Given the description of an element on the screen output the (x, y) to click on. 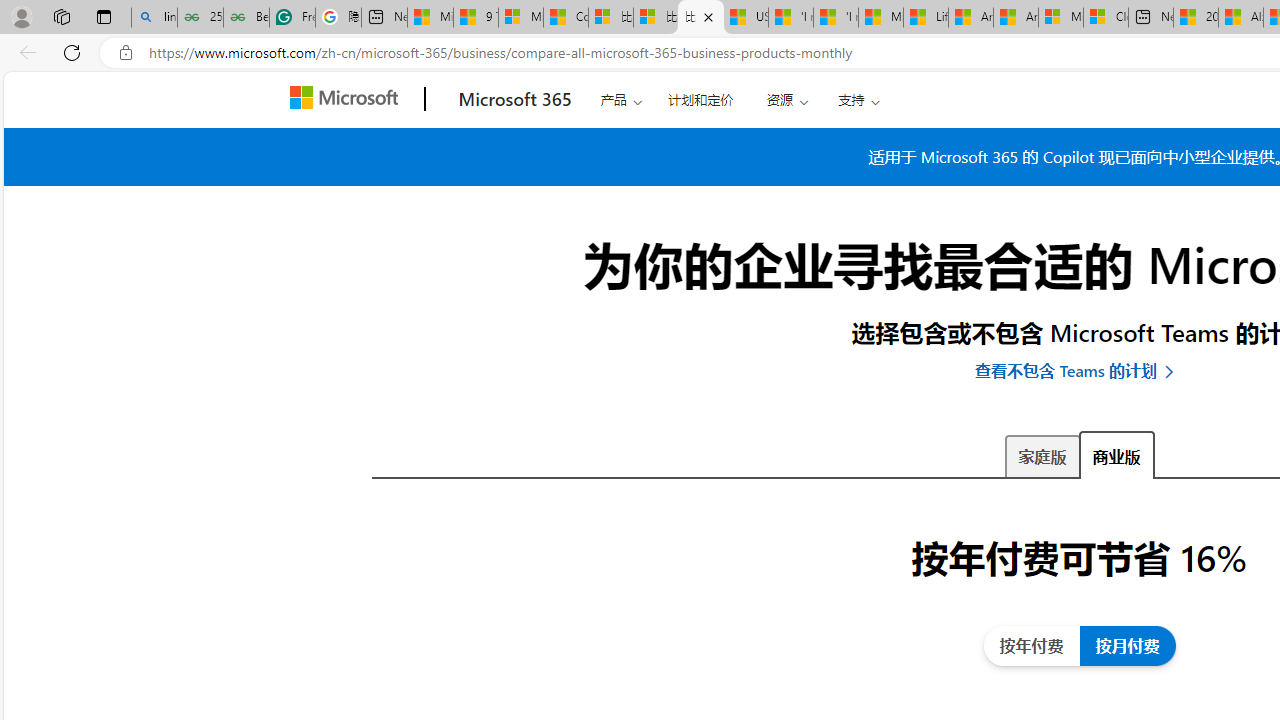
25 Basic Linux Commands For Beginners - GeeksforGeeks (199, 17)
Free AI Writing Assistance for Students | Grammarly (292, 17)
